Given the description of an element on the screen output the (x, y) to click on. 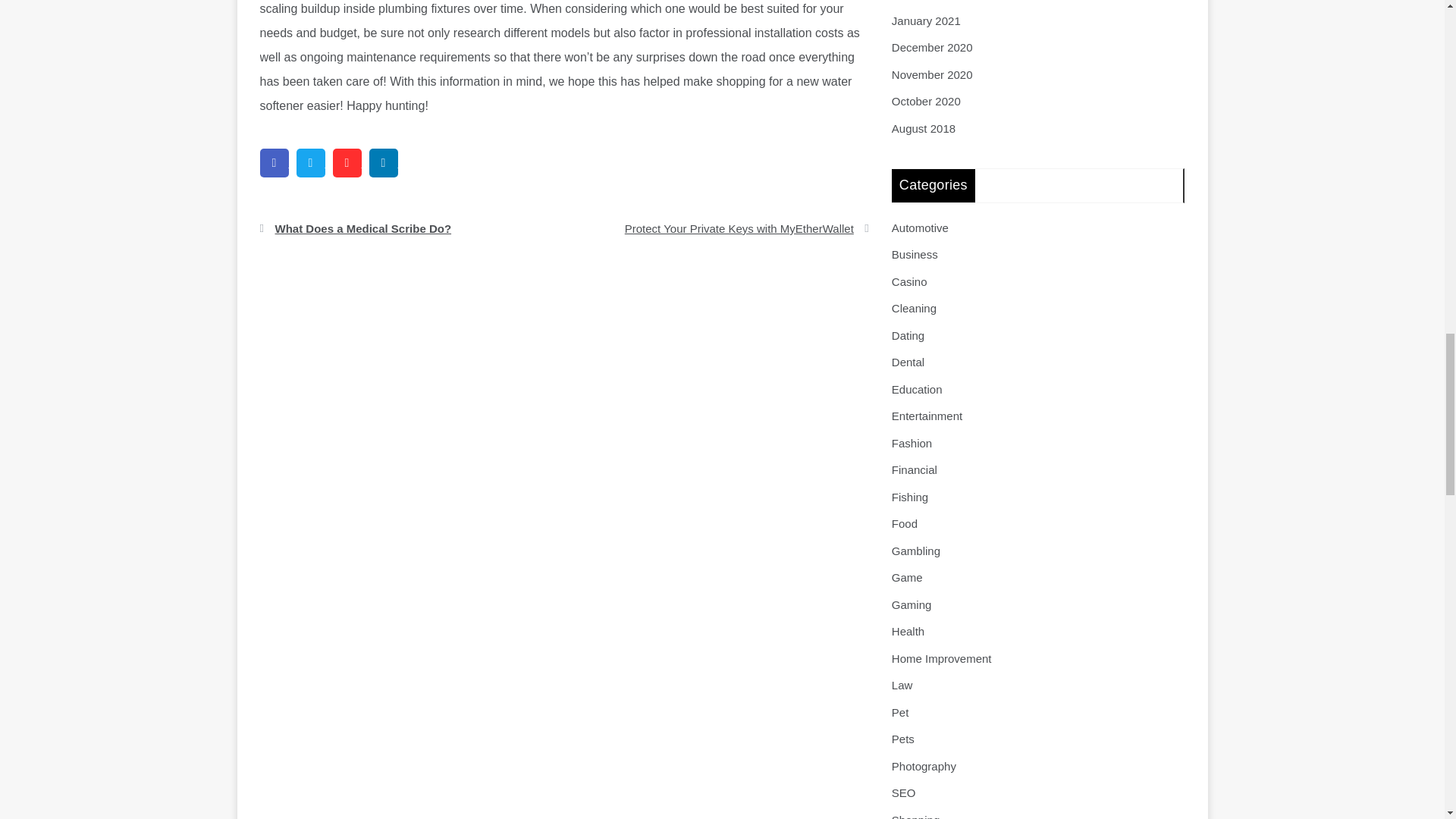
What Does a Medical Scribe Do? (406, 228)
Protect Your Private Keys with MyEtherWallet (722, 228)
